Given the description of an element on the screen output the (x, y) to click on. 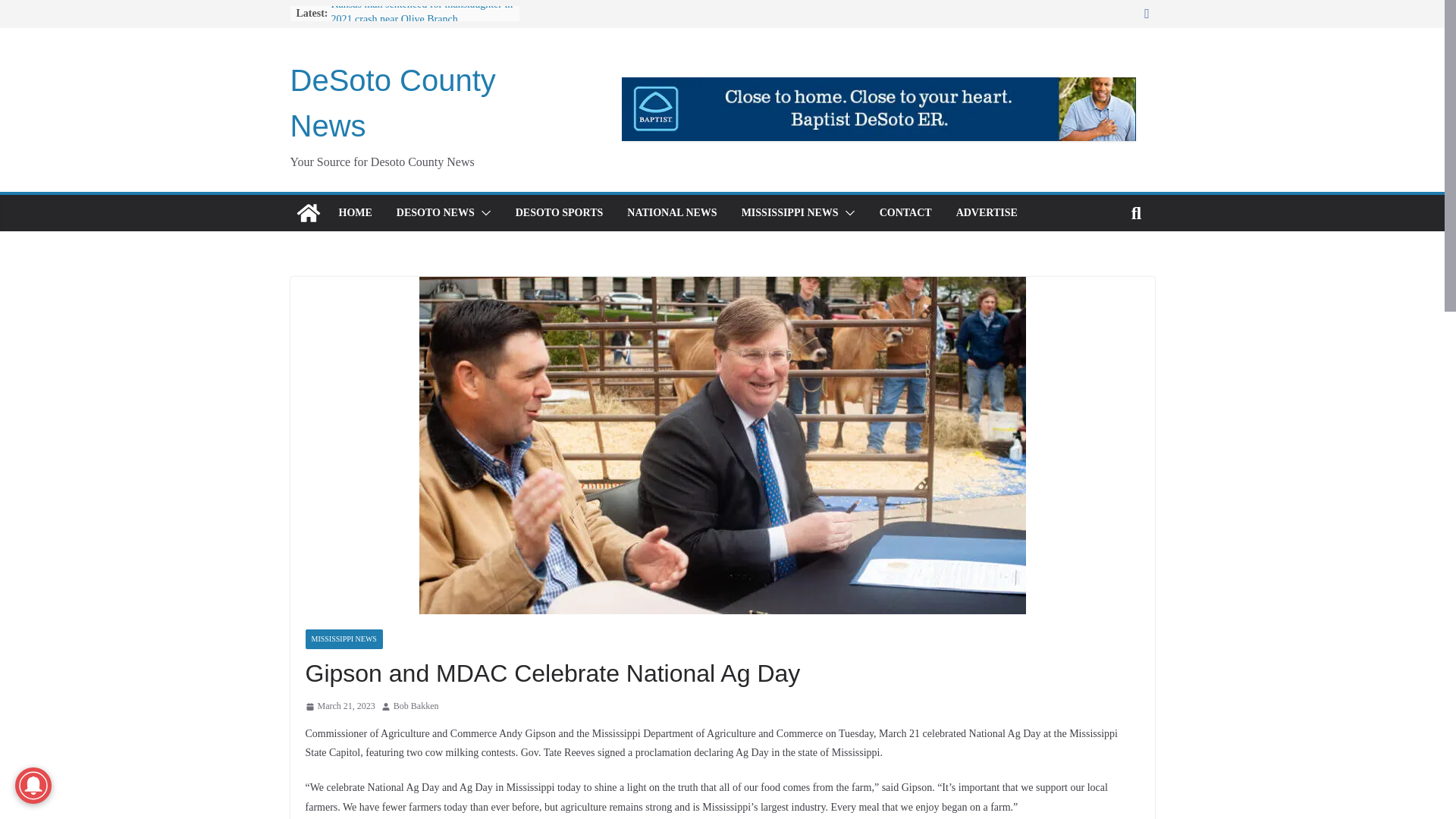
NATIONAL NEWS (671, 212)
MISSISSIPPI NEWS (789, 212)
CONTACT (905, 212)
March 21, 2023 (339, 706)
5:25 pm (339, 706)
MISSISSIPPI NEWS (342, 639)
Bob Bakken (416, 706)
ADVERTISE (986, 212)
DeSoto County News (307, 212)
